Given the description of an element on the screen output the (x, y) to click on. 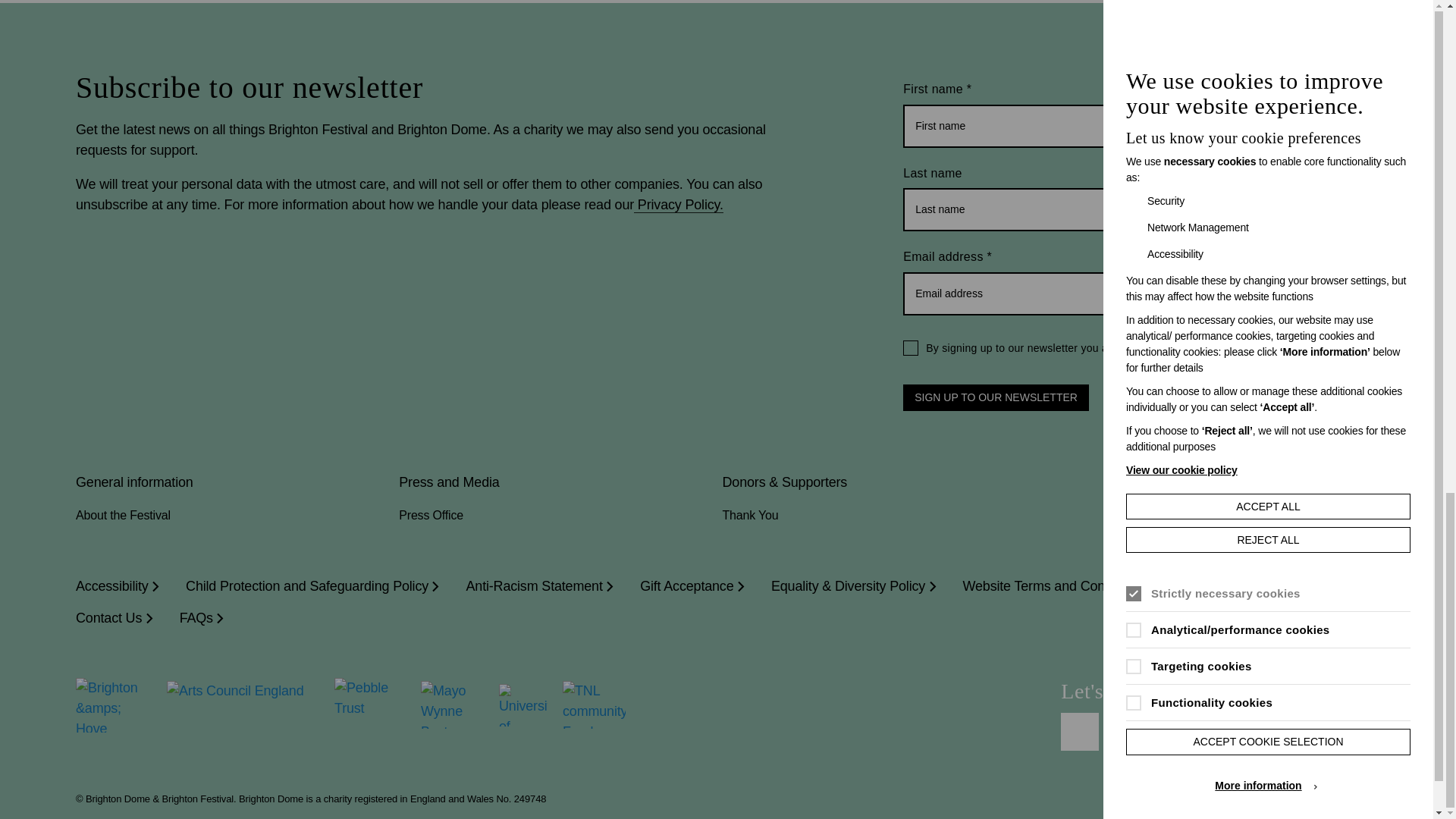
X (1215, 731)
LinkedIn (1170, 731)
Instagram (1125, 731)
Facebook (1080, 731)
